Given the description of an element on the screen output the (x, y) to click on. 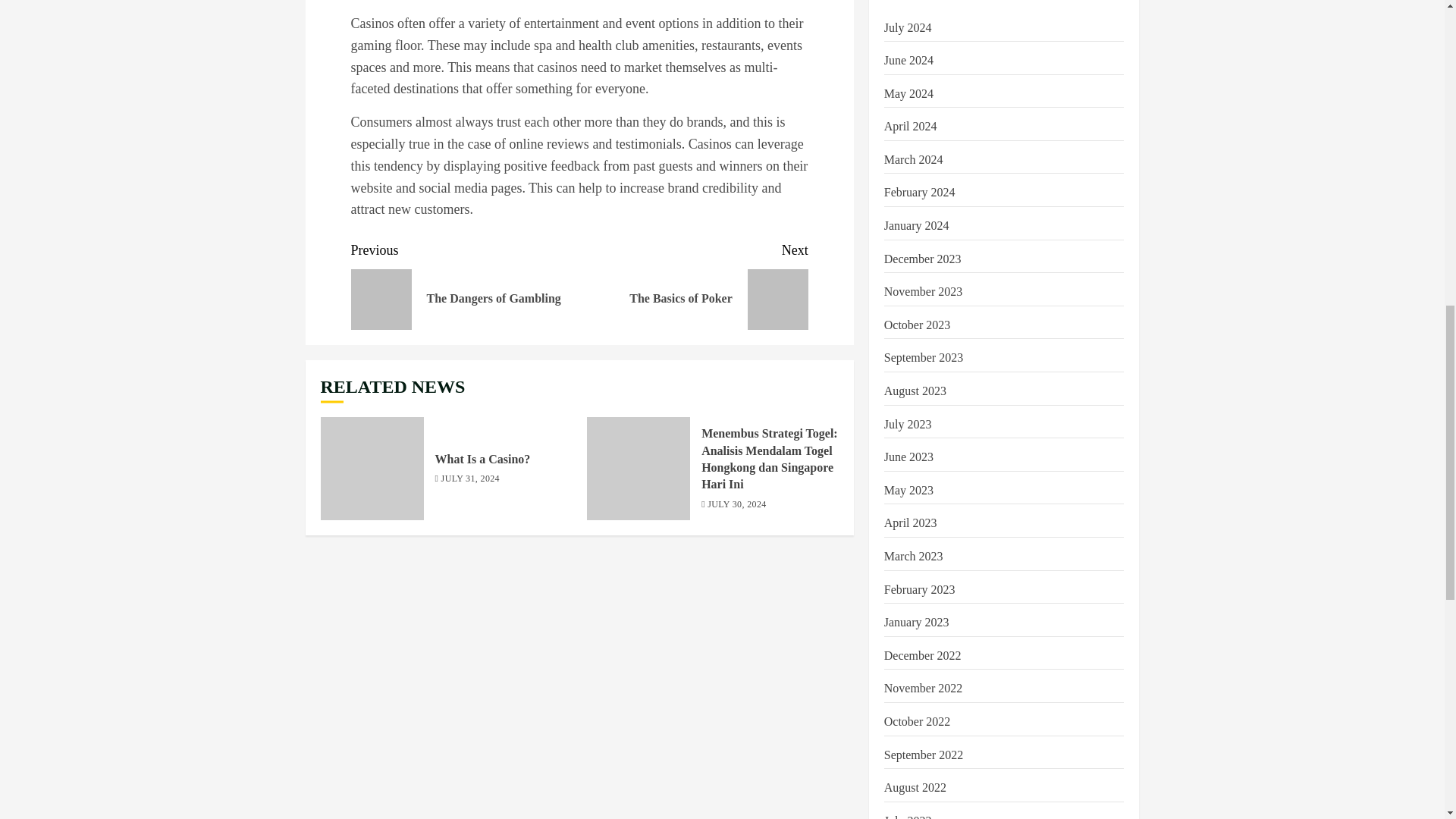
December 2023 (921, 259)
April 2024 (910, 126)
What Is a Casino? (371, 468)
June 2024 (908, 60)
January 2024 (916, 225)
July 2024 (693, 284)
May 2024 (907, 28)
February 2024 (908, 93)
March 2024 (919, 192)
October 2023 (913, 160)
November 2023 (464, 284)
